Given the description of an element on the screen output the (x, y) to click on. 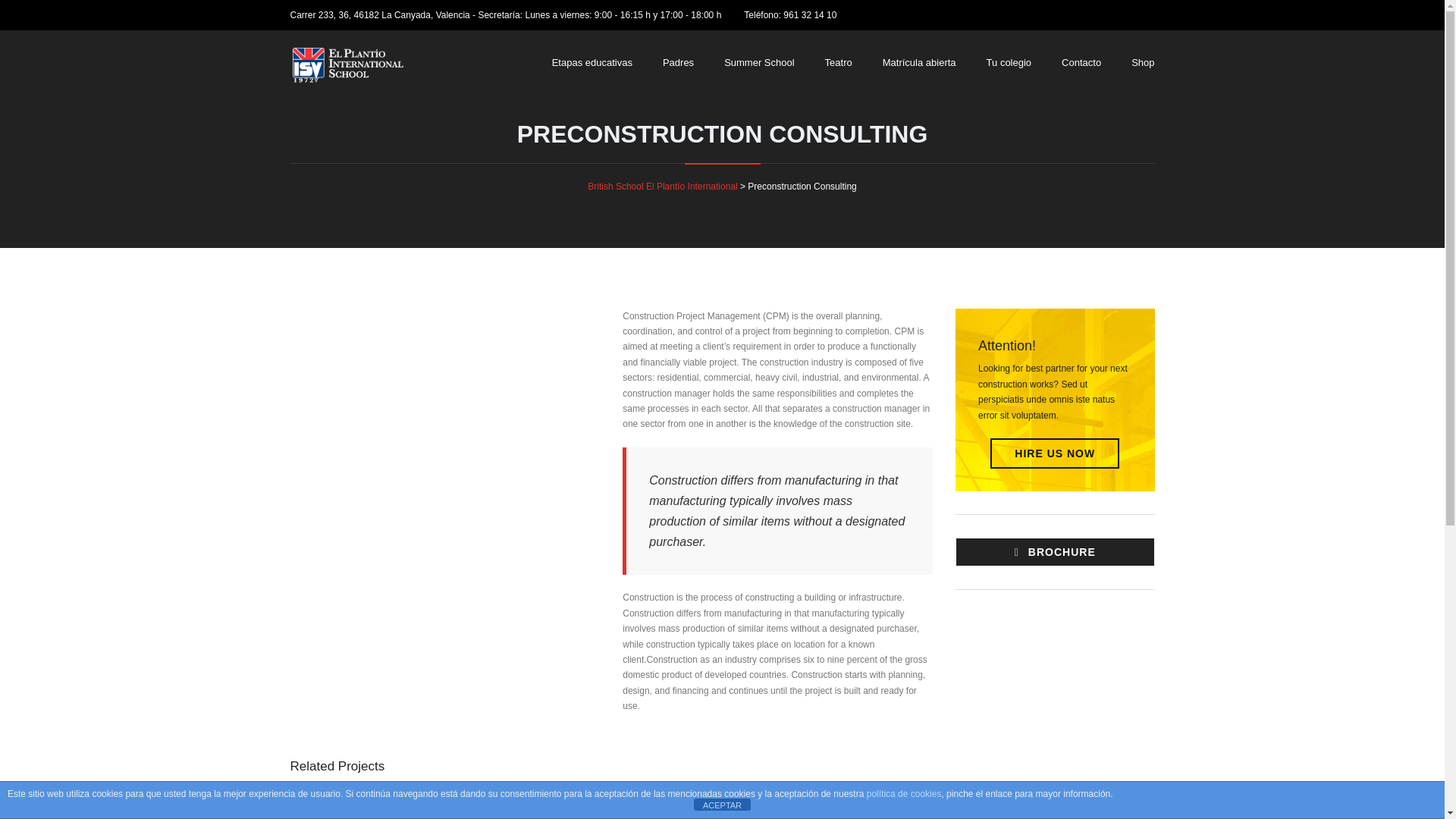
Tu colegio (1008, 62)
Summer School (759, 62)
Tu colegio (1008, 62)
BROCHURE (1054, 551)
Summer School (759, 62)
Padres (678, 62)
HIRE US NOW (1054, 453)
Etapas educativas (592, 62)
Padres (678, 62)
Contacto (1081, 62)
Etapas educativas (592, 62)
